Given the description of an element on the screen output the (x, y) to click on. 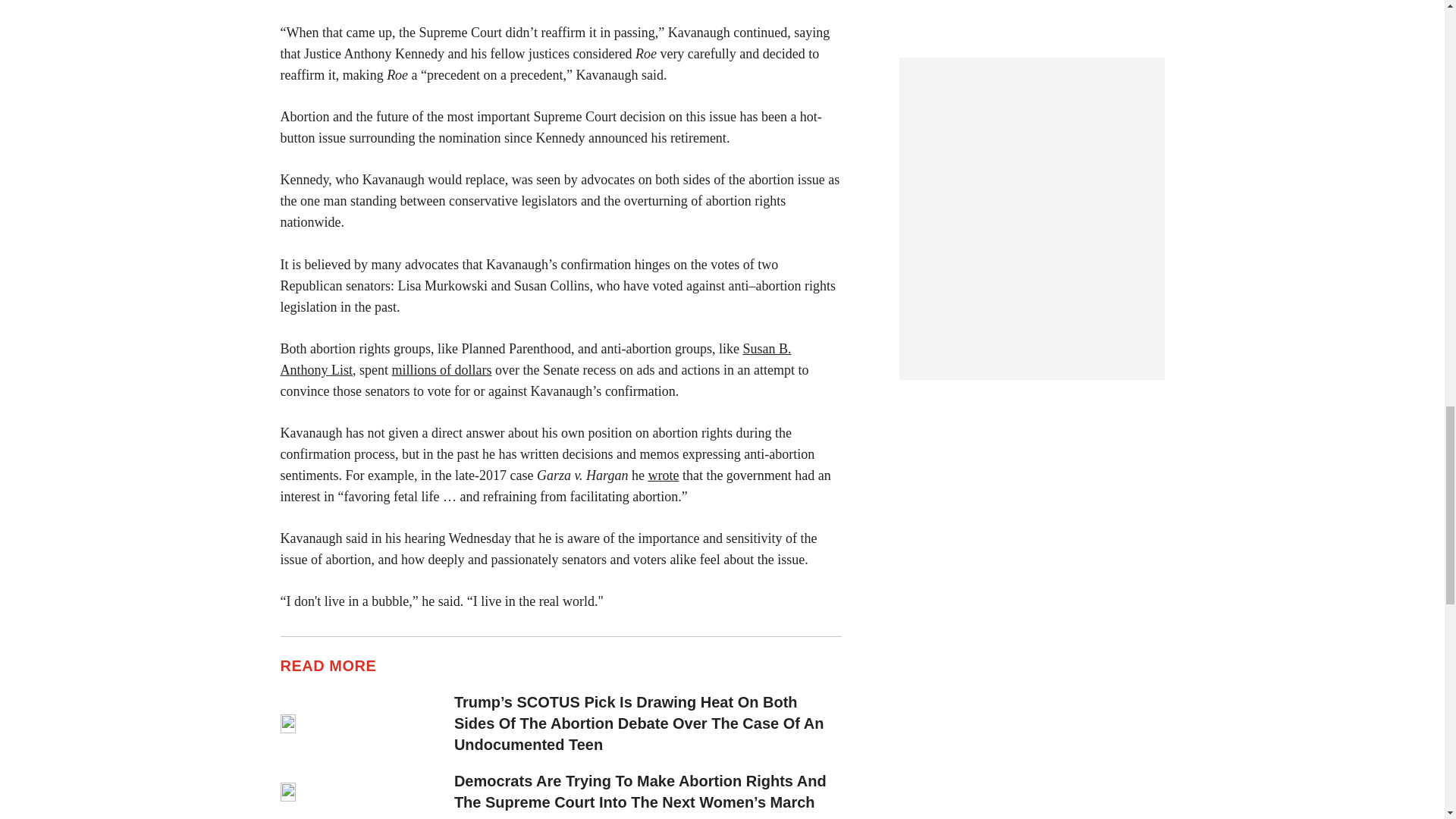
Susan B. Anthony List (536, 359)
millions of dollars (441, 369)
wrote (662, 475)
